Given the description of an element on the screen output the (x, y) to click on. 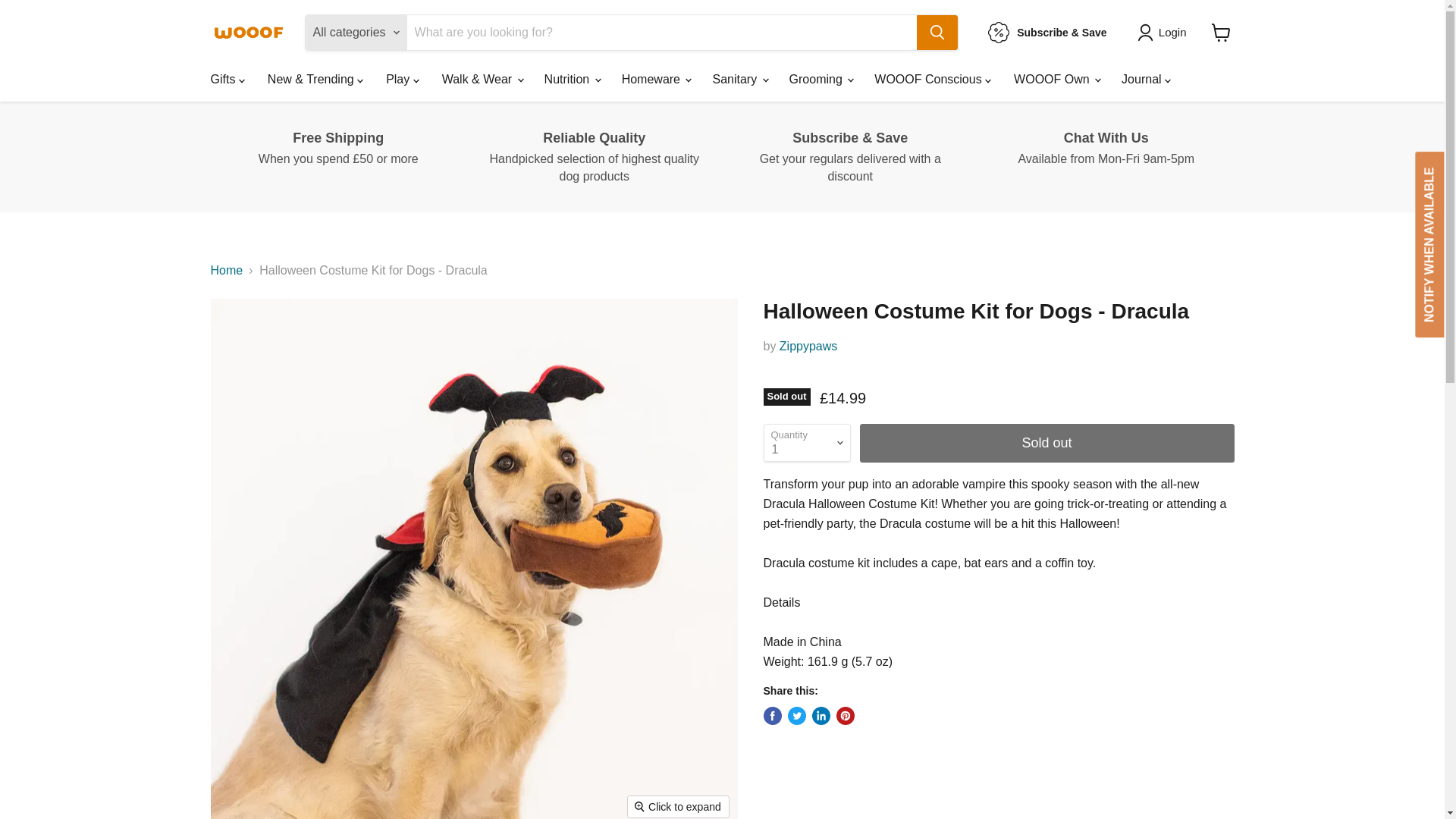
Zippypaws (807, 345)
Login (1172, 32)
View cart (1221, 32)
